Given the description of an element on the screen output the (x, y) to click on. 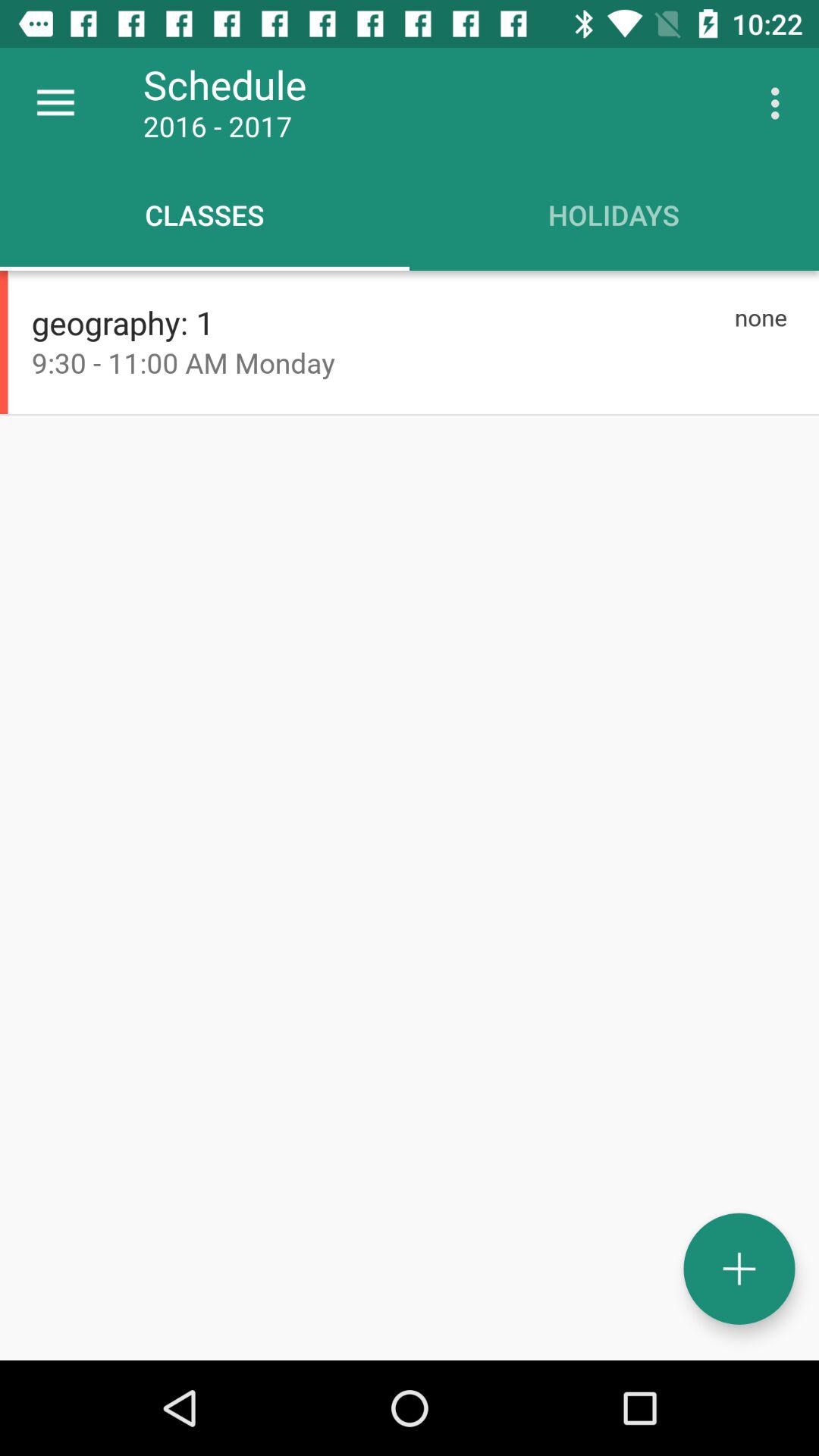
open the item to the left of the schedule icon (55, 103)
